Given the description of an element on the screen output the (x, y) to click on. 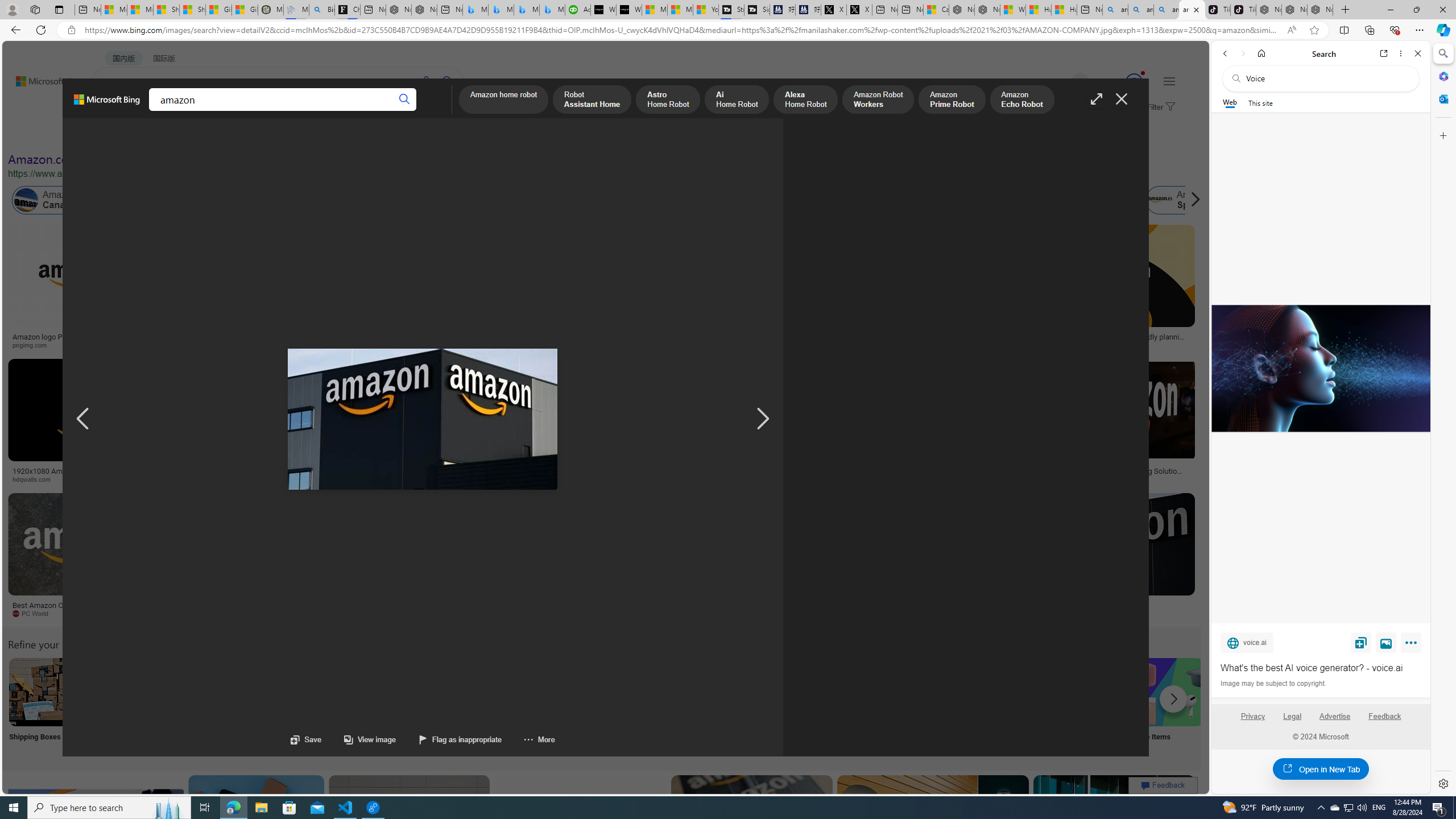
IMAGES (156, 112)
usatoday.com (334, 344)
Amazon Shipping Boxes Shipping Boxes (42, 706)
Amazon Animals (401, 200)
Wildlife - MSN (1012, 9)
The Verge (190, 612)
DICT (357, 111)
MAPS (397, 111)
Microsoft Bing Travel - Shangri-La Hotel Bangkok (551, 9)
Nordace Siena Pro 15 Backpack (1293, 9)
